Given the description of an element on the screen output the (x, y) to click on. 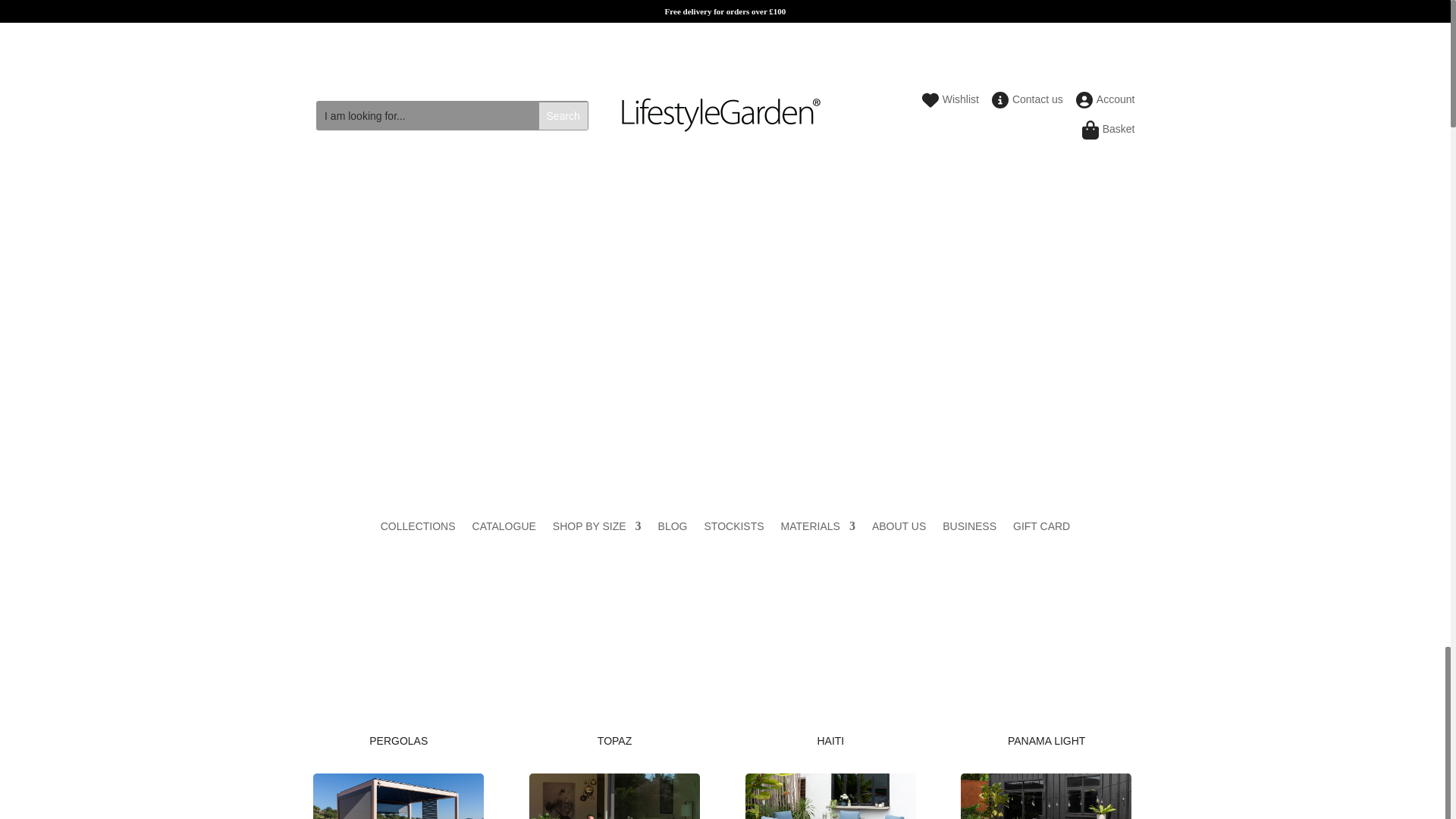
Contact us (1028, 102)
COLLECTIONS (417, 528)
Basket (1110, 132)
lifestyleGarden (720, 115)
Search (563, 115)
GARDEN SHADES (793, 310)
menu-pergolas (398, 796)
Account (1107, 102)
CATALOGUE (503, 528)
GIFT CARD (1041, 528)
ACCESSORIES (911, 310)
ABOUT US (899, 528)
Topaz-menu (614, 796)
Wishlist (952, 102)
ALL OUTDOOR (447, 310)
